Given the description of an element on the screen output the (x, y) to click on. 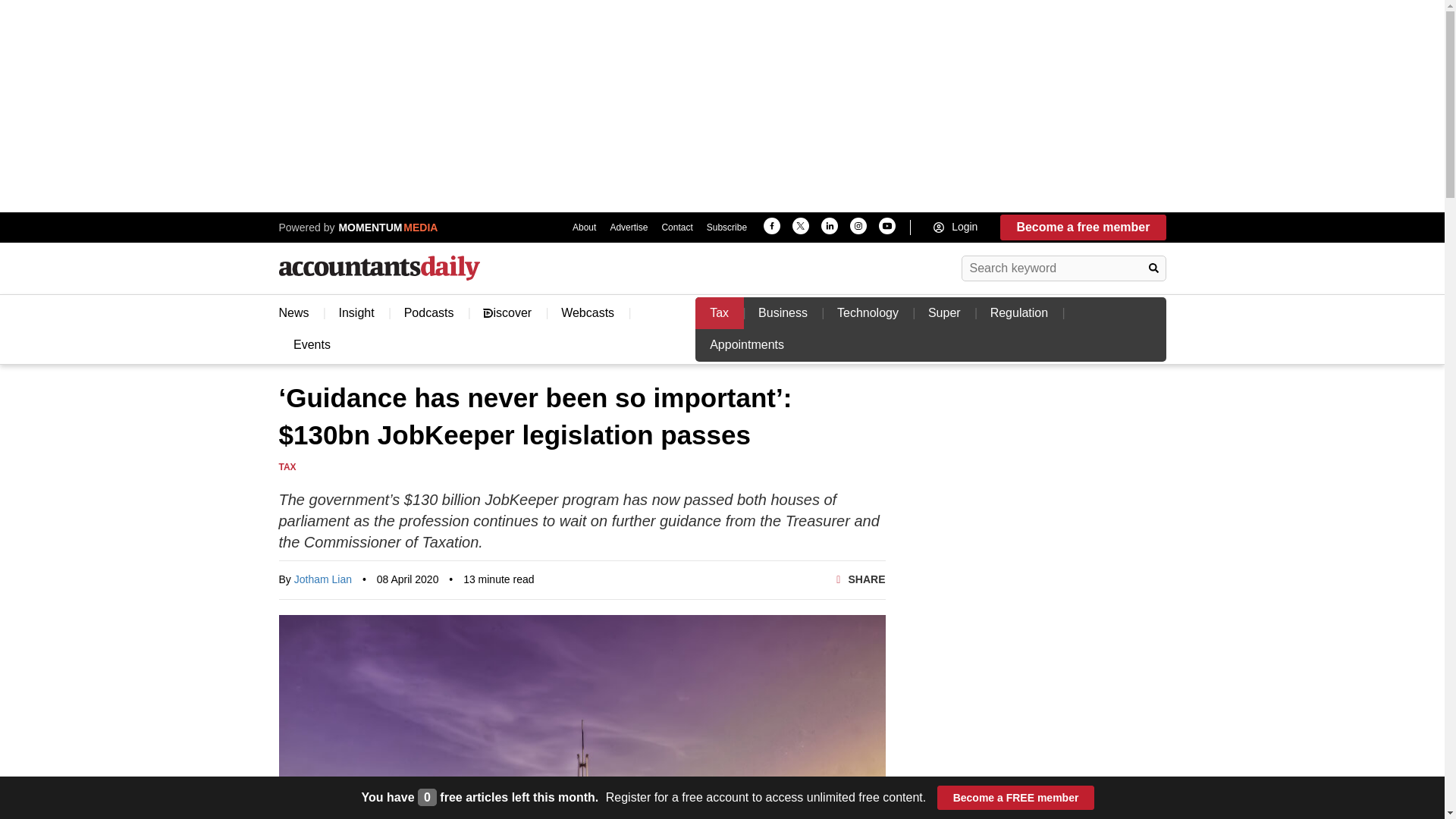
Become a free member (1083, 227)
View all articles from Jotham Lian (323, 579)
Become a FREE member (1015, 797)
MOMENTUM MEDIA (386, 227)
Become a FREE member (1015, 797)
